Given the description of an element on the screen output the (x, y) to click on. 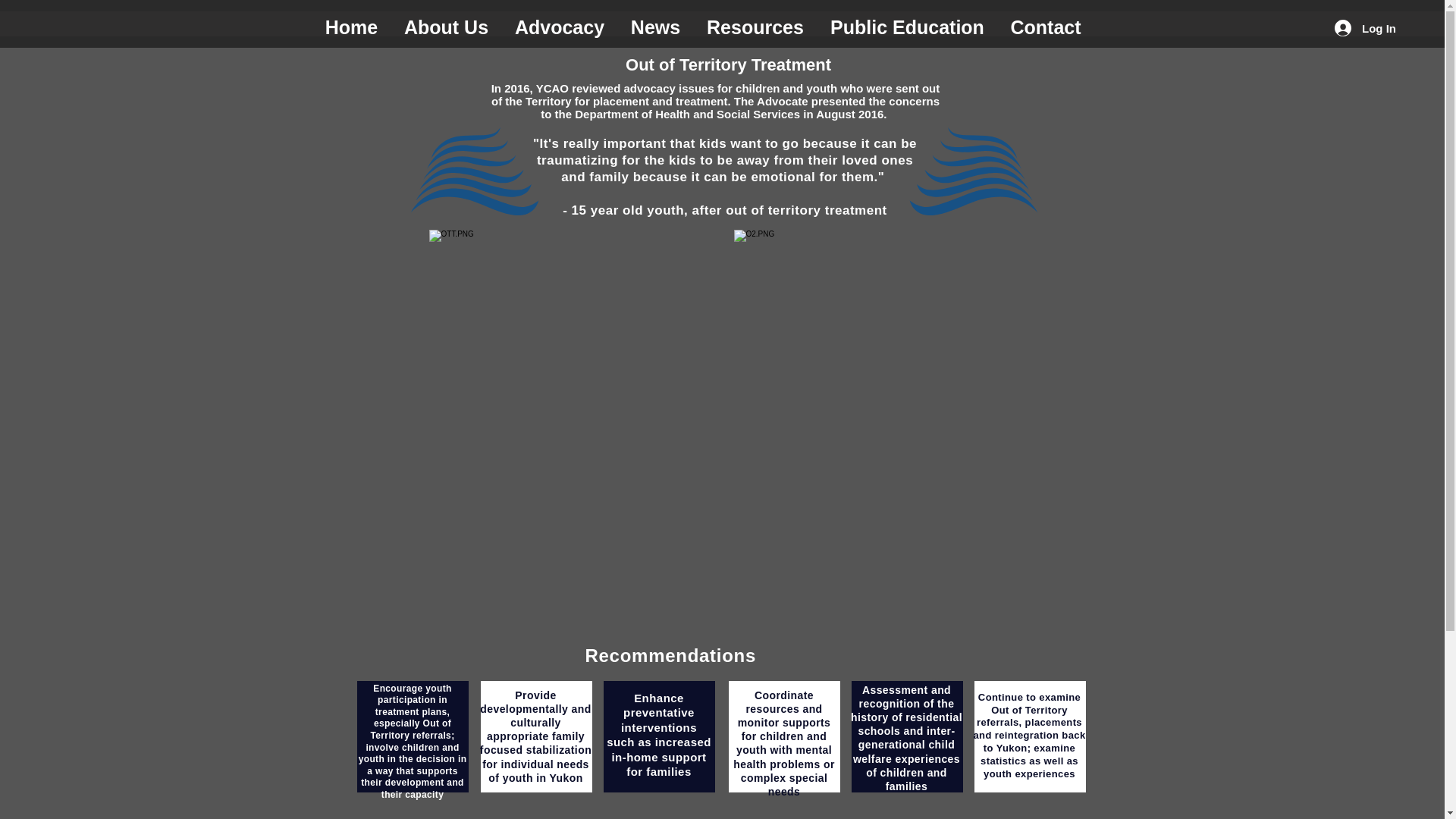
Public Education (906, 26)
Advocacy (559, 26)
News (655, 26)
Contact (1045, 26)
Log In (1364, 27)
Resources (754, 26)
About Us (446, 26)
Home (352, 26)
